Given the description of an element on the screen output the (x, y) to click on. 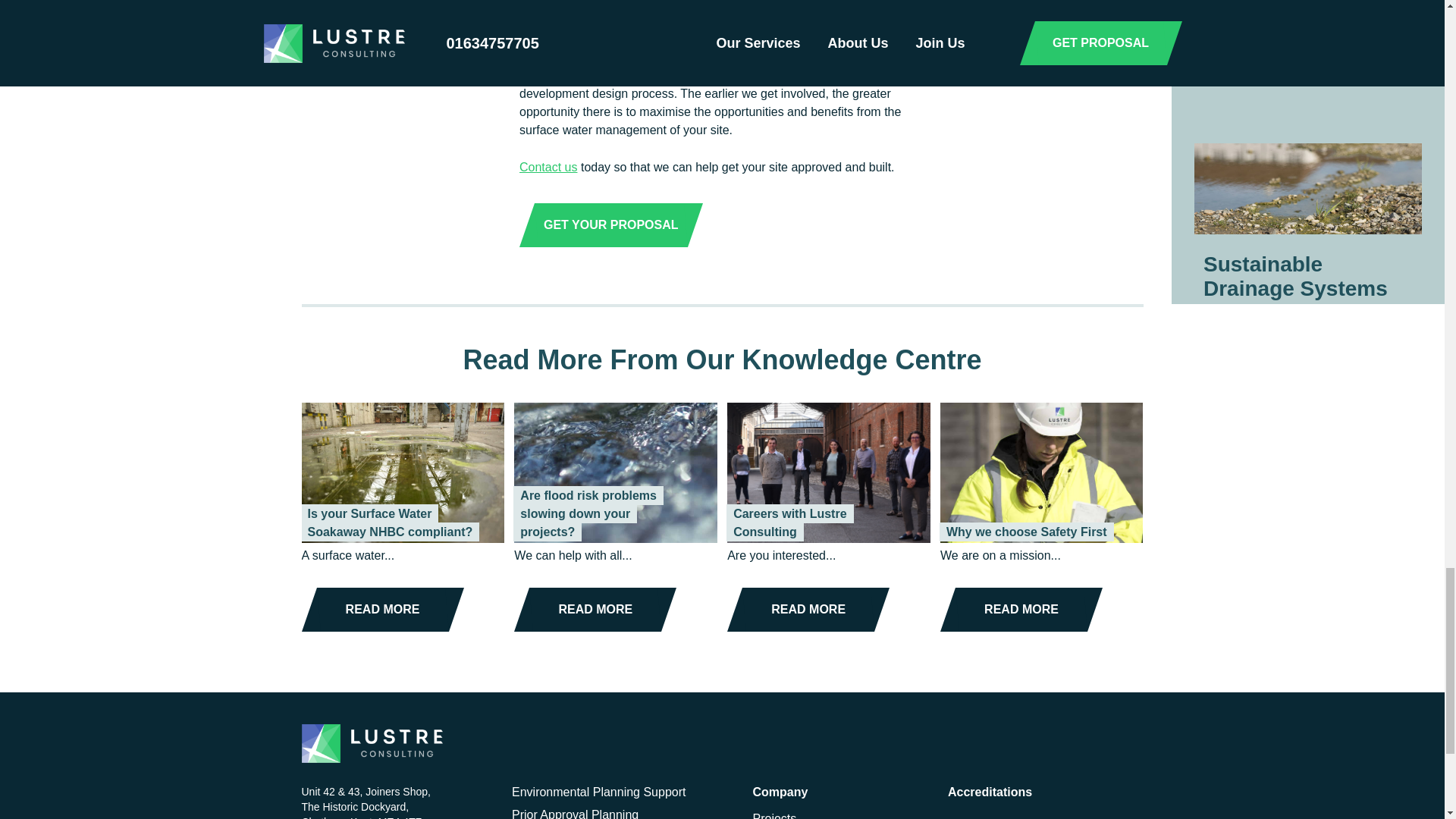
READ MORE (382, 609)
Careers with Lustre Consulting (789, 522)
Is your Surface Water Soakaway NHBC compliant? (390, 522)
READ MORE (1021, 609)
Contact us (547, 166)
GET YOUR PROPOSAL (610, 225)
READ MORE (595, 609)
Why we choose Safety First (1026, 531)
READ MORE (808, 609)
Are flood risk problems slowing down your projects? (587, 513)
